Given the description of an element on the screen output the (x, y) to click on. 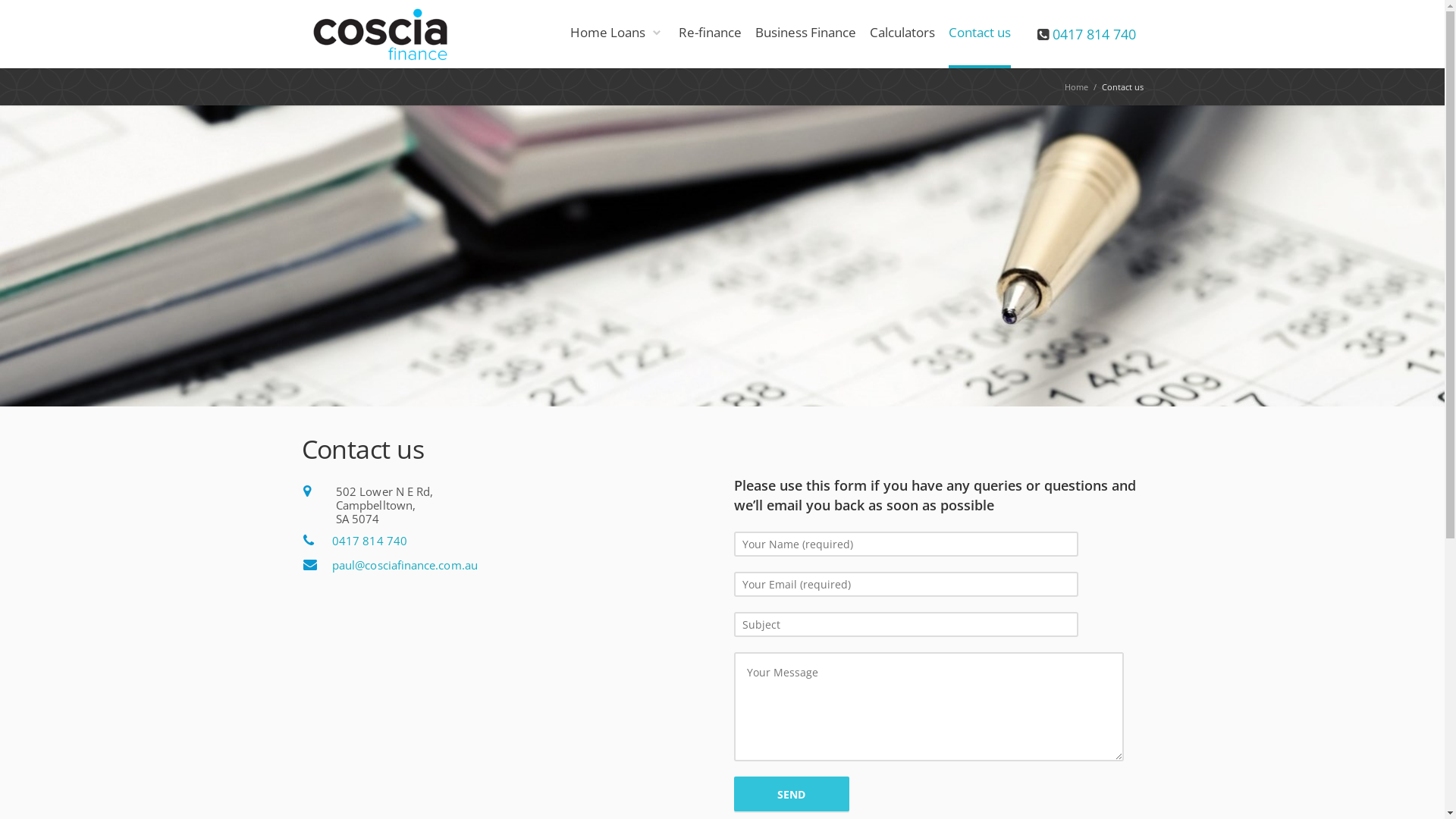
Calculators Element type: text (901, 34)
Send Element type: text (791, 793)
paul@cosciafinance.com.au Element type: text (404, 564)
coscia finance Element type: hover (388, 34)
Contact us Element type: text (978, 34)
0417 814 740 Element type: text (1093, 34)
0417 814 740 Element type: text (369, 540)
Business Finance Element type: text (805, 34)
Home Element type: text (1076, 86)
Home Loans Element type: text (615, 34)
Re-finance Element type: text (708, 34)
